Given the description of an element on the screen output the (x, y) to click on. 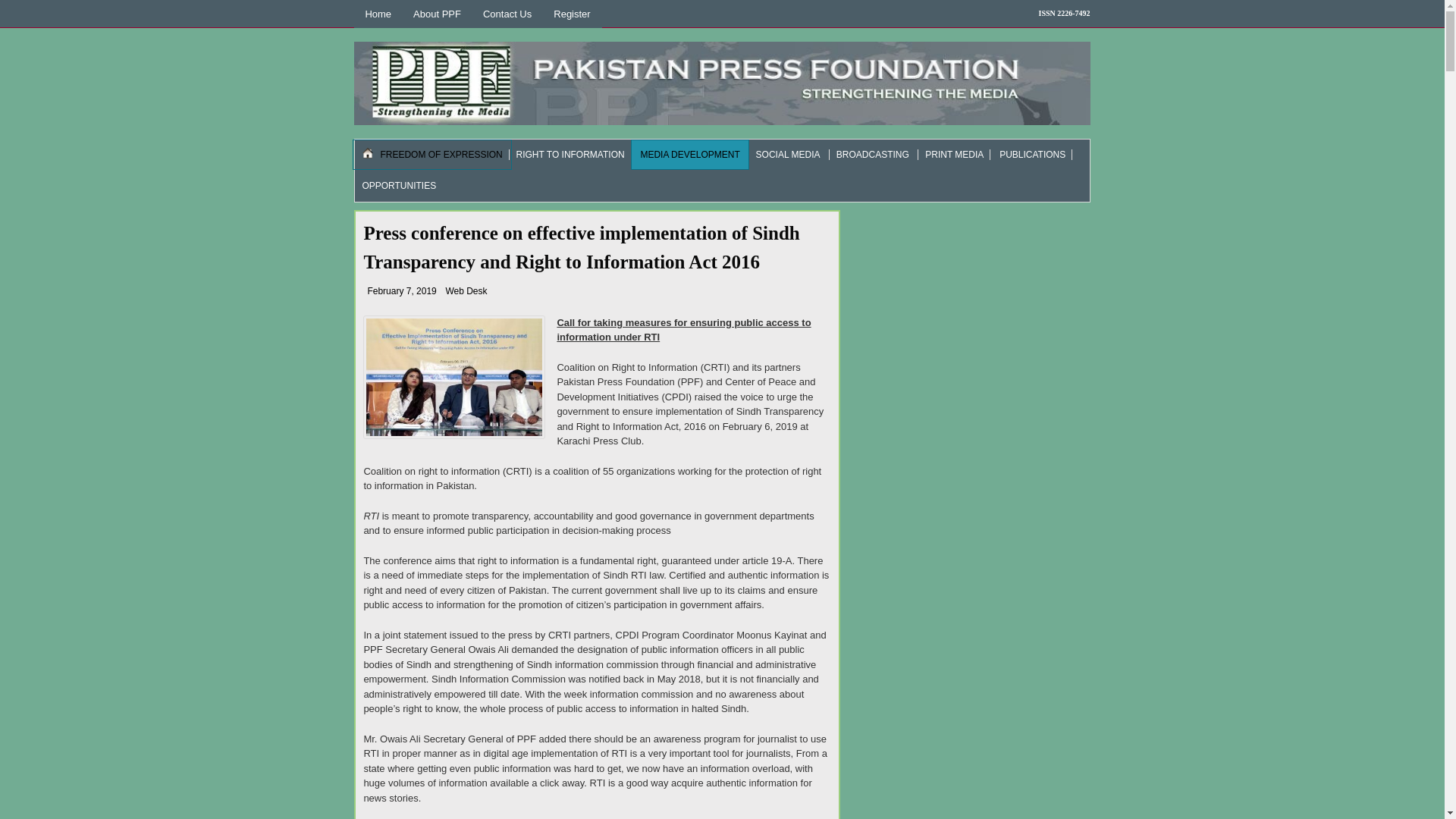
Paksitan Press Foundtion (721, 83)
FREEDOM OF EXPRESSION (432, 154)
SOCIAL MEDIA (788, 154)
Register (572, 13)
Contact Us (507, 13)
OPPORTUNITIES (398, 185)
RIGHT TO INFORMATION (570, 154)
PRINT MEDIA (954, 154)
Home (378, 13)
BROADCASTING (872, 154)
PUBLICATIONS (1032, 154)
MEDIA DEVELOPMENT (689, 154)
About PPF (437, 13)
Pakistan Press Foundation (453, 376)
